Given the description of an element on the screen output the (x, y) to click on. 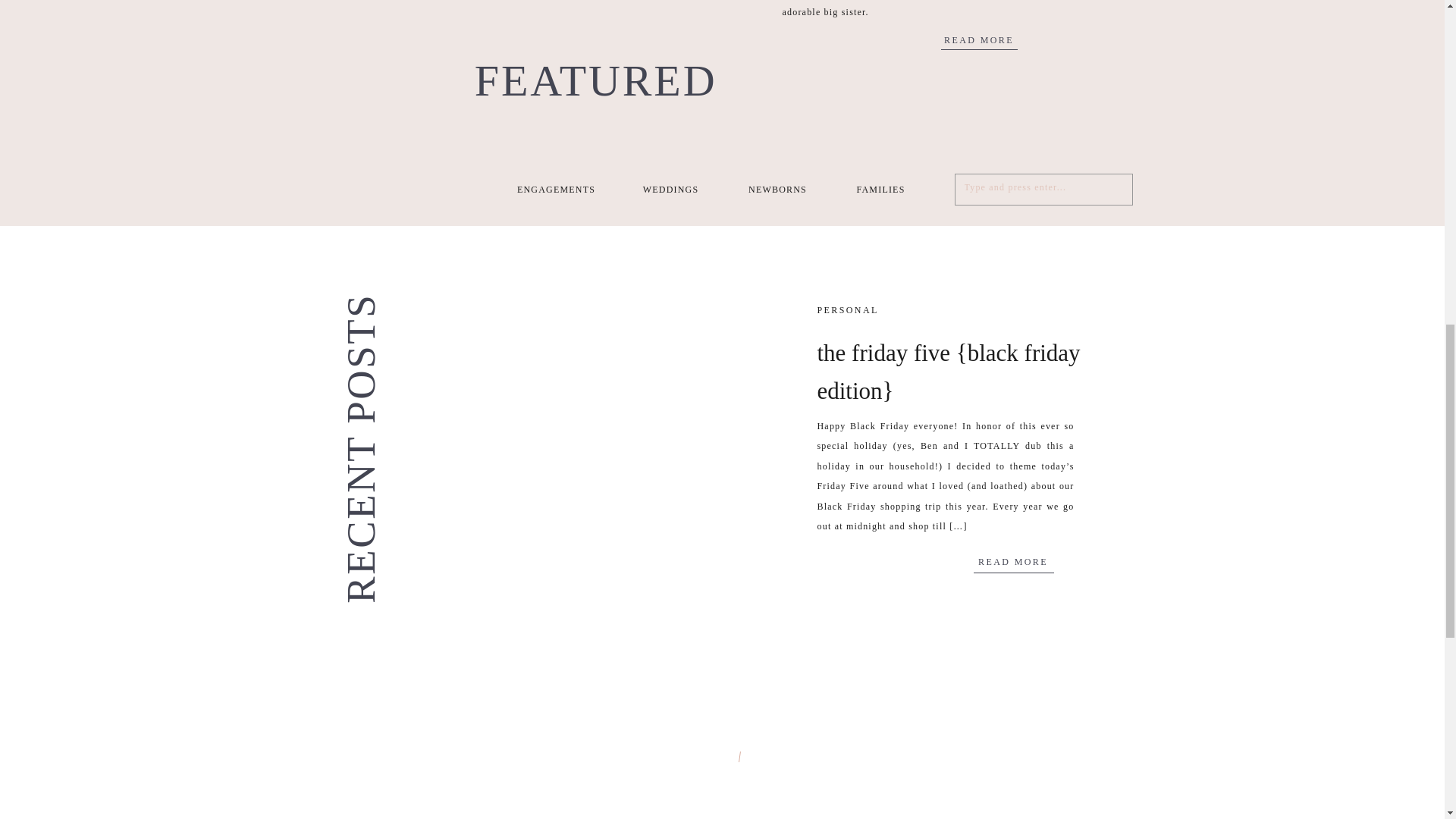
WEDDINGS (669, 189)
FAMILIES (879, 189)
NEWBORNS (778, 189)
READ MORE (979, 39)
READ MORE (1013, 561)
ENGAGEMENTS (556, 189)
PERSONAL (847, 309)
